Given the description of an element on the screen output the (x, y) to click on. 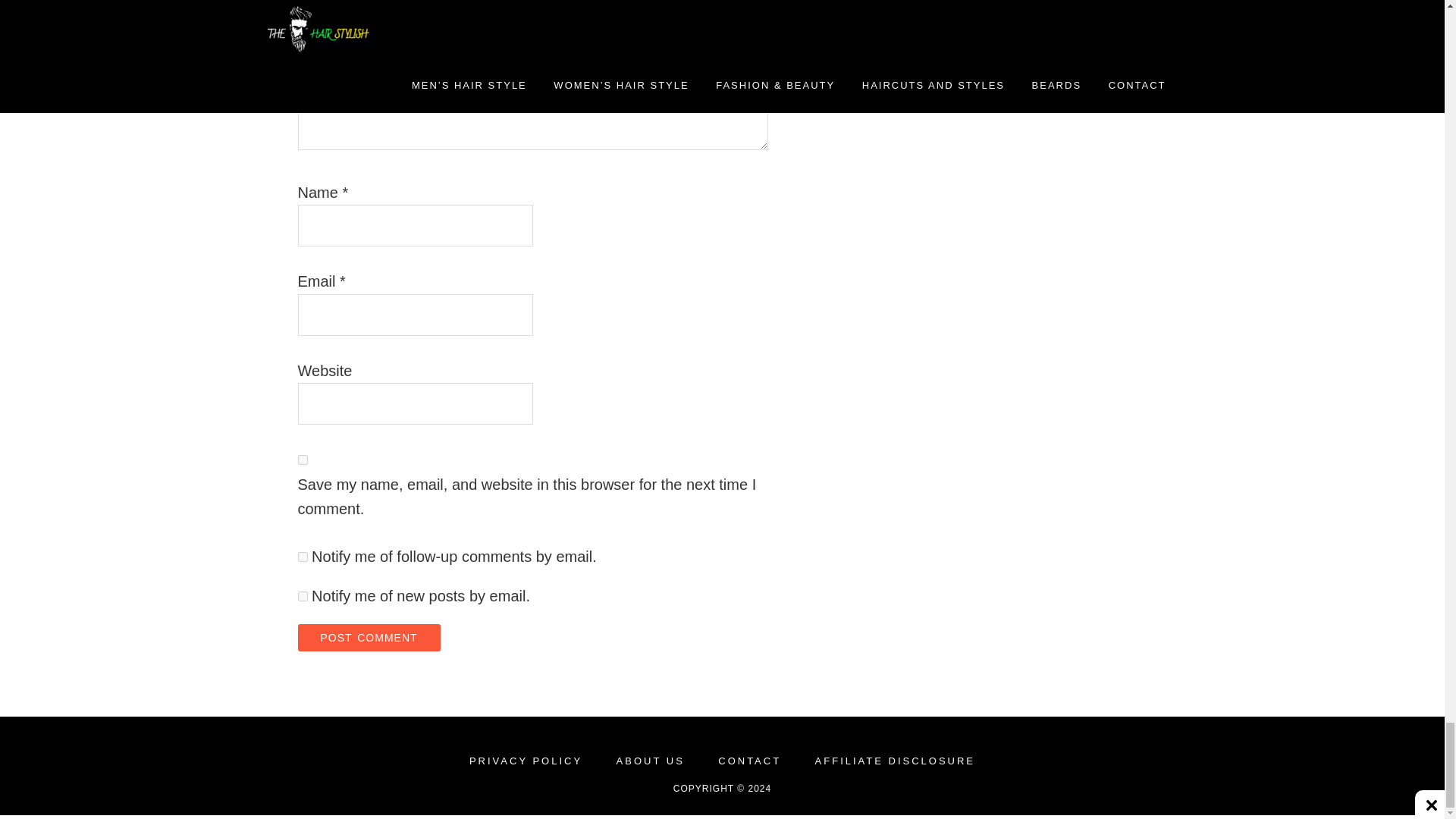
Post Comment (368, 637)
subscribe (302, 556)
yes (302, 460)
subscribe (302, 596)
